Given the description of an element on the screen output the (x, y) to click on. 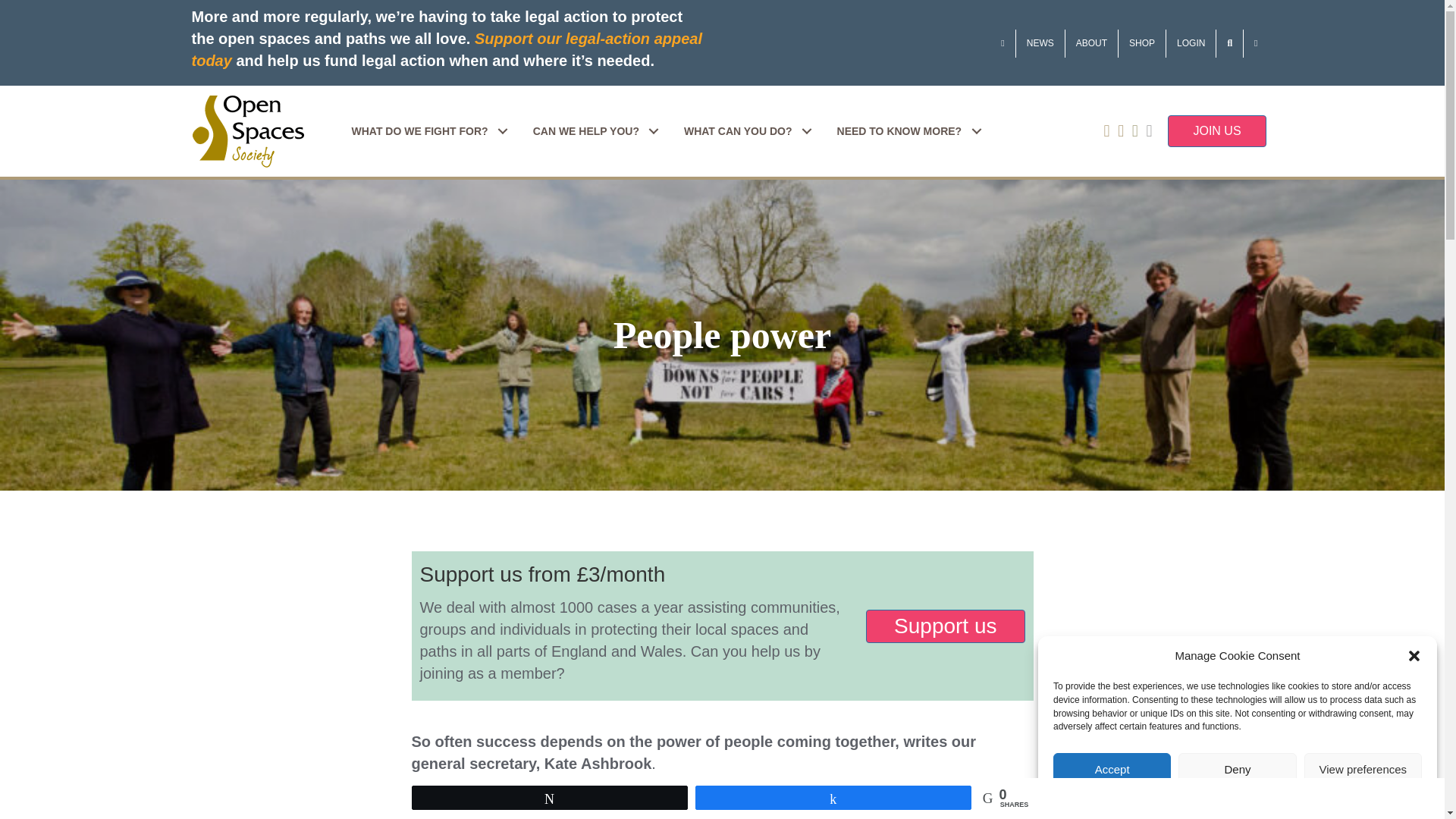
ABOUT (1091, 43)
Search (1229, 43)
LOGIN (1190, 43)
SHOP (1142, 43)
Support our legal-action appeal today (445, 49)
NEWS (1040, 43)
Open Spaces Society Logo (247, 131)
